Given the description of an element on the screen output the (x, y) to click on. 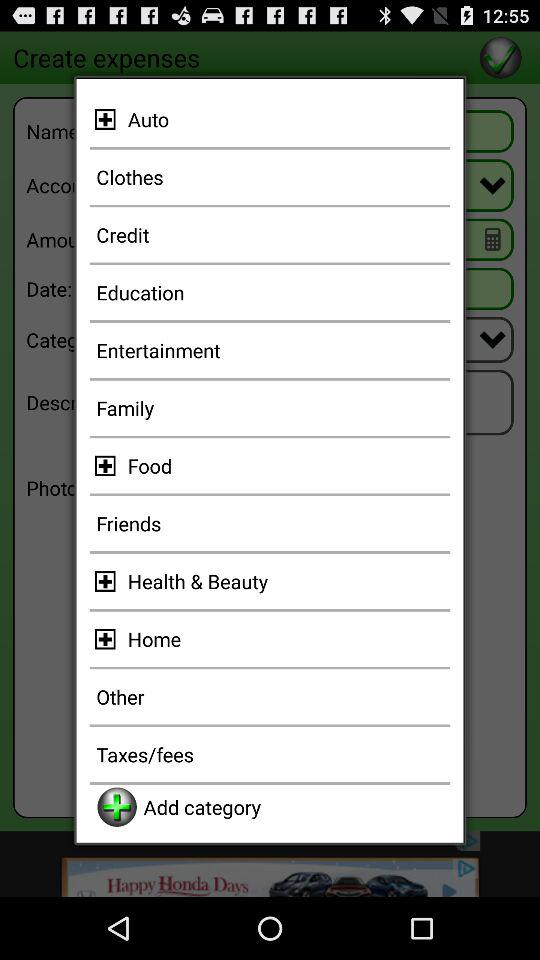
add new vehicle expense (108, 119)
